Given the description of an element on the screen output the (x, y) to click on. 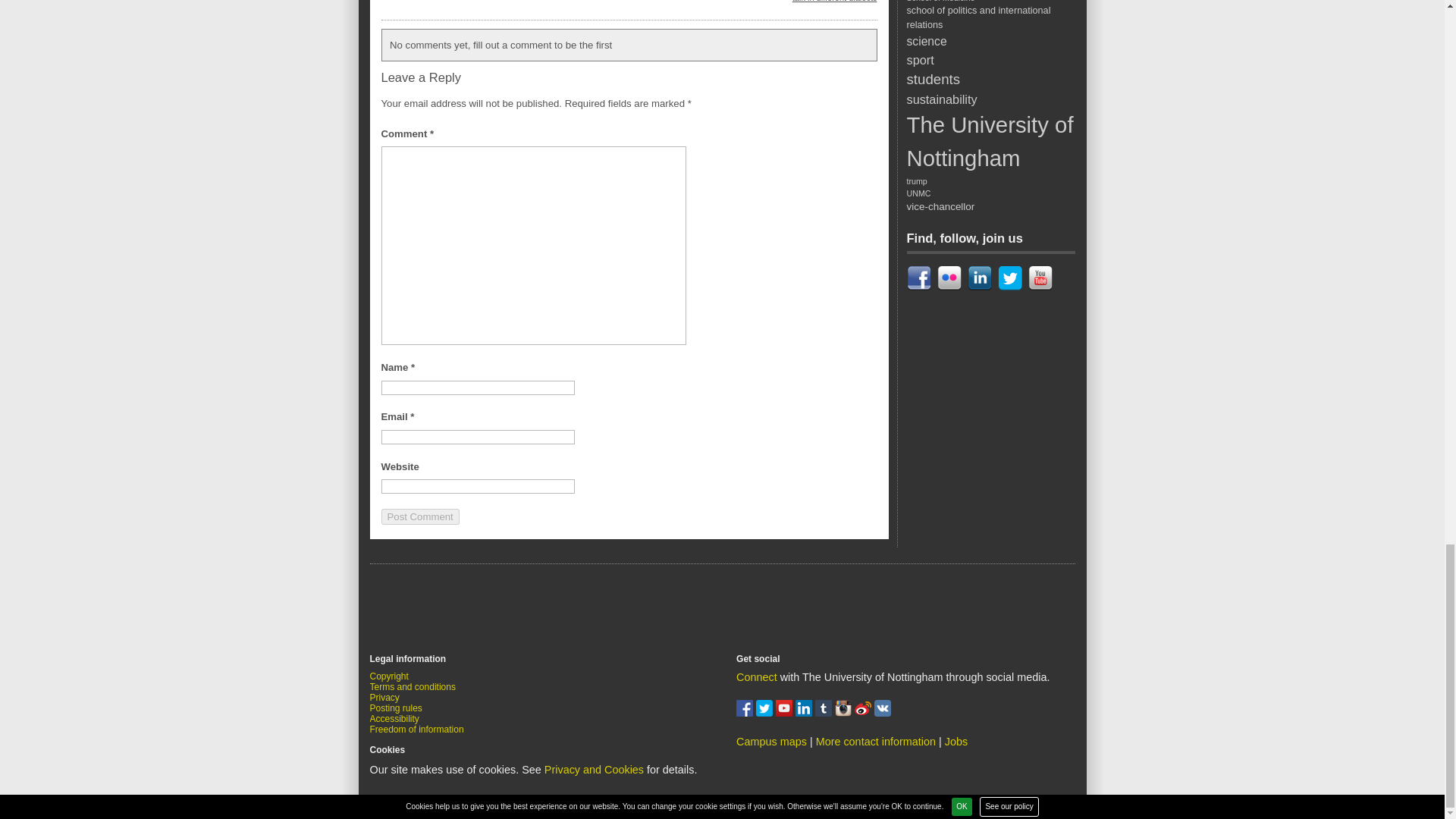
Terms and conditions (412, 686)
Freedom of information (416, 728)
View our campus maps (771, 741)
Contact The University of Nottingham (875, 741)
Join us on Linked in (804, 712)
Join us on vkontakte (883, 712)
Privacy (383, 697)
Find us on Weibo (864, 712)
Follow our Tumblr (824, 712)
Find us on Instagram (844, 712)
Accessibility (394, 718)
Follow us on twitter (765, 712)
Post Comment (419, 516)
Find us on facebook (745, 712)
Get Social with The University of Nottingham (756, 676)
